Given the description of an element on the screen output the (x, y) to click on. 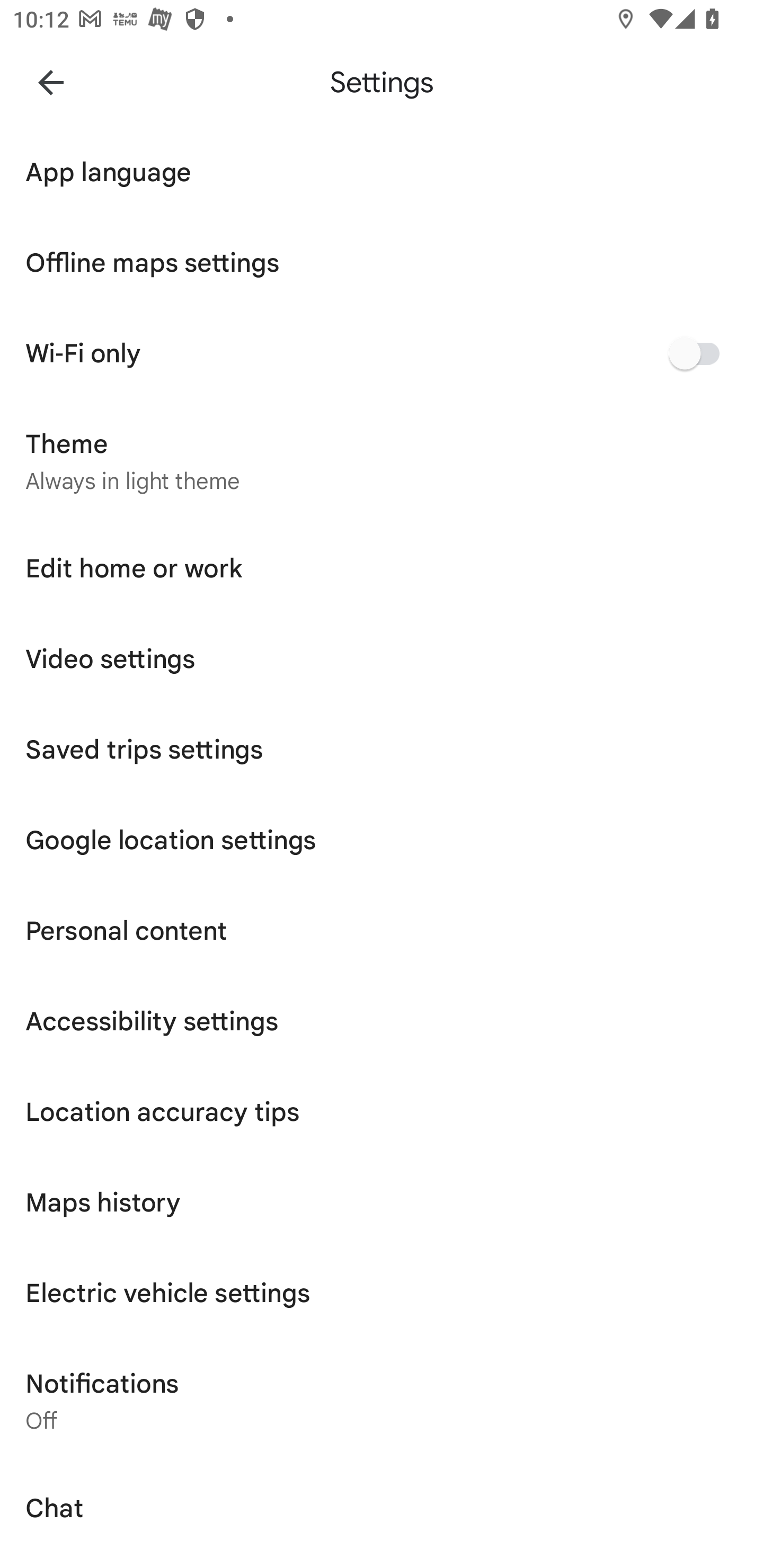
Navigate up (50, 81)
App language (381, 172)
Offline maps settings (381, 262)
Wi‑Fi only (381, 353)
Theme Always in light theme (381, 460)
Edit home or work (381, 568)
Video settings (381, 659)
Saved trips settings (381, 749)
Google location settings (381, 839)
Personal content (381, 930)
Accessibility settings (381, 1021)
Location accuracy tips (381, 1111)
Maps history (381, 1202)
Electric vehicle settings (381, 1293)
Notifications Off (381, 1400)
Chat (381, 1507)
